Given the description of an element on the screen output the (x, y) to click on. 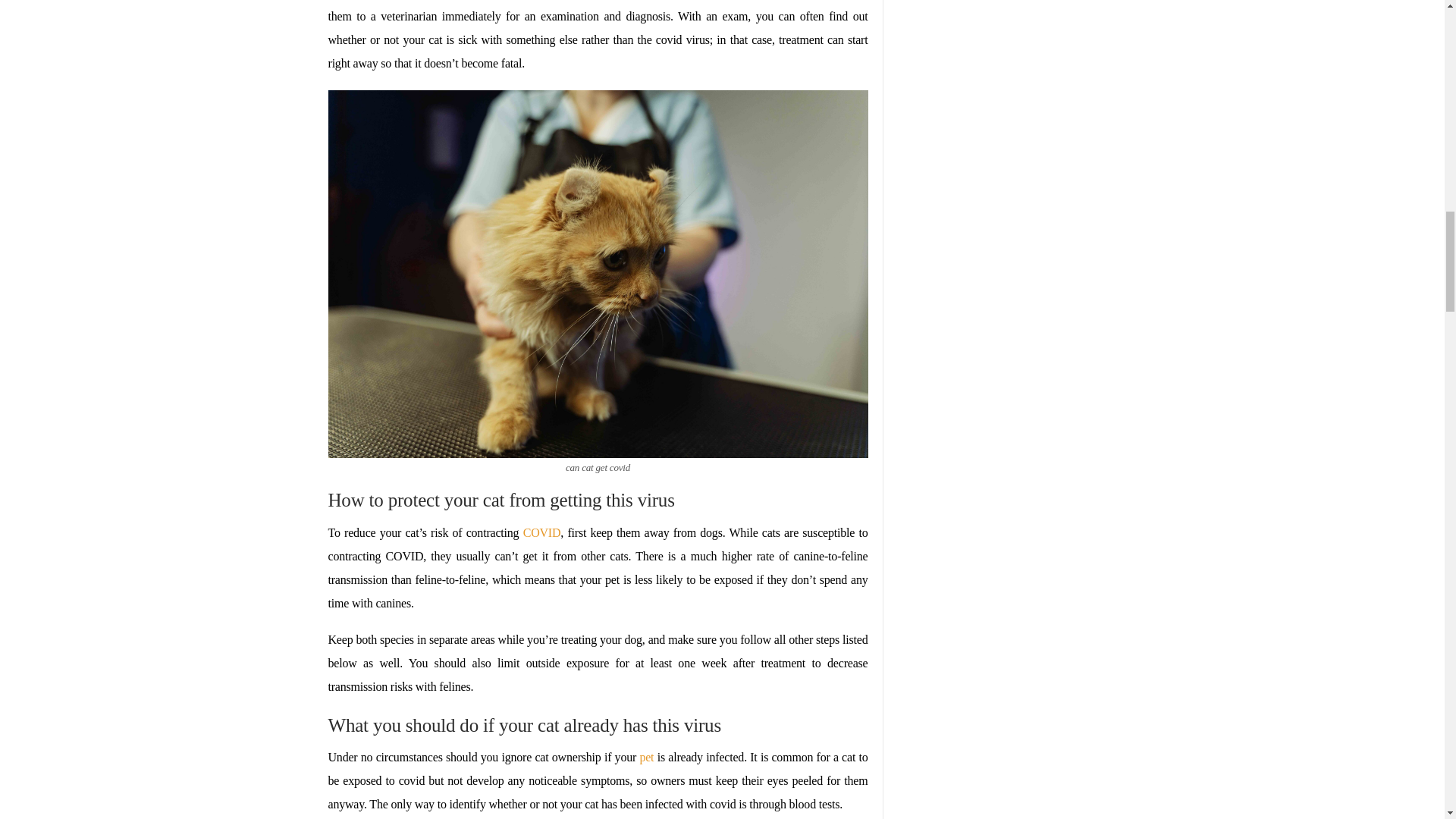
COVID (541, 532)
pet (646, 757)
